Given the description of an element on the screen output the (x, y) to click on. 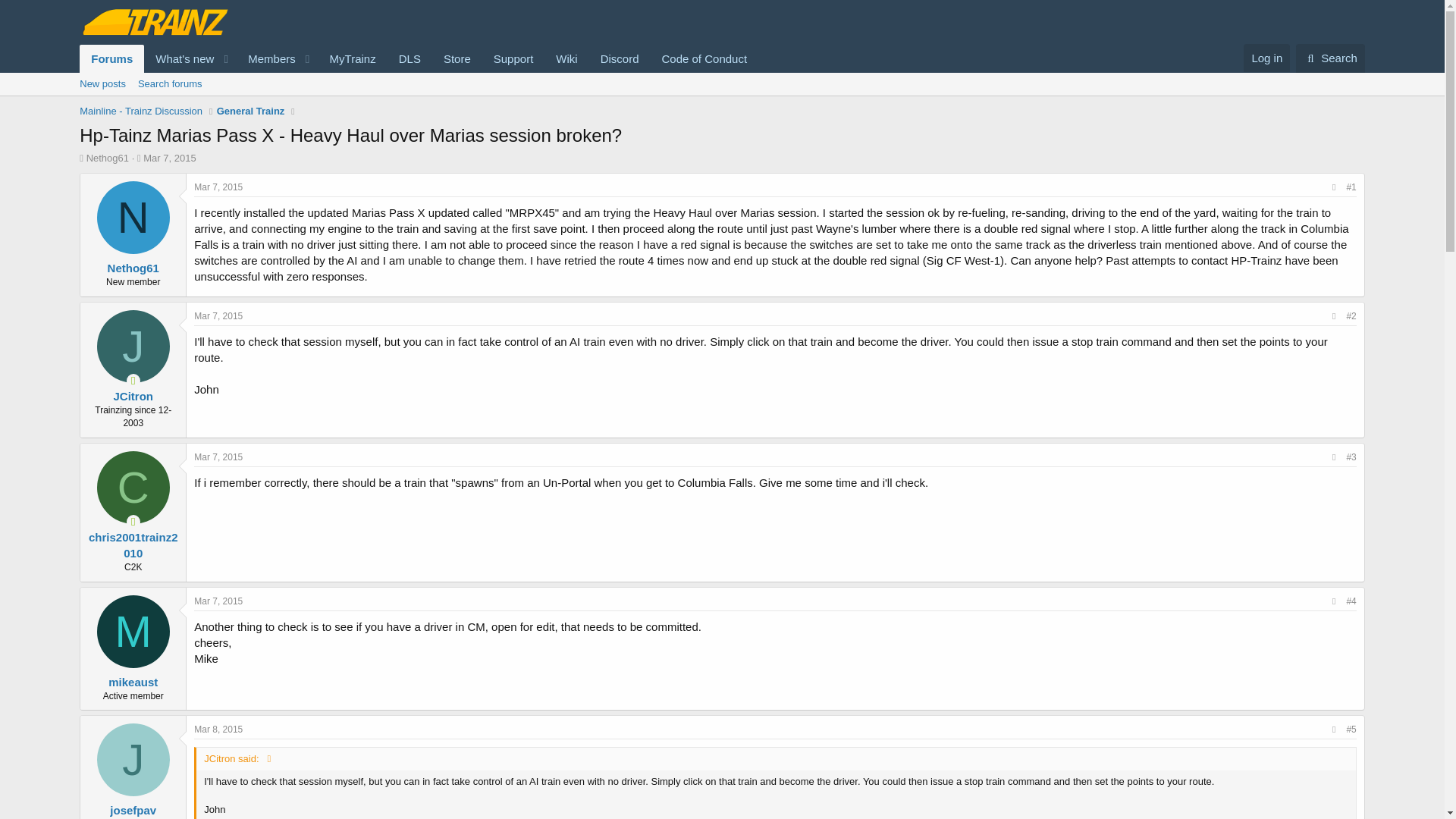
Search forums (170, 83)
Mar 7, 2015 (168, 157)
Nethog61 (107, 157)
MyTrainz (352, 58)
Log in (1266, 58)
N (133, 216)
Nethog61 (132, 267)
Support (512, 58)
What's new (179, 58)
DLS (409, 58)
Forums (112, 58)
Discord (619, 58)
Mar 7, 2015 at 11:00 PM (218, 601)
Members (266, 58)
